Given the description of an element on the screen output the (x, y) to click on. 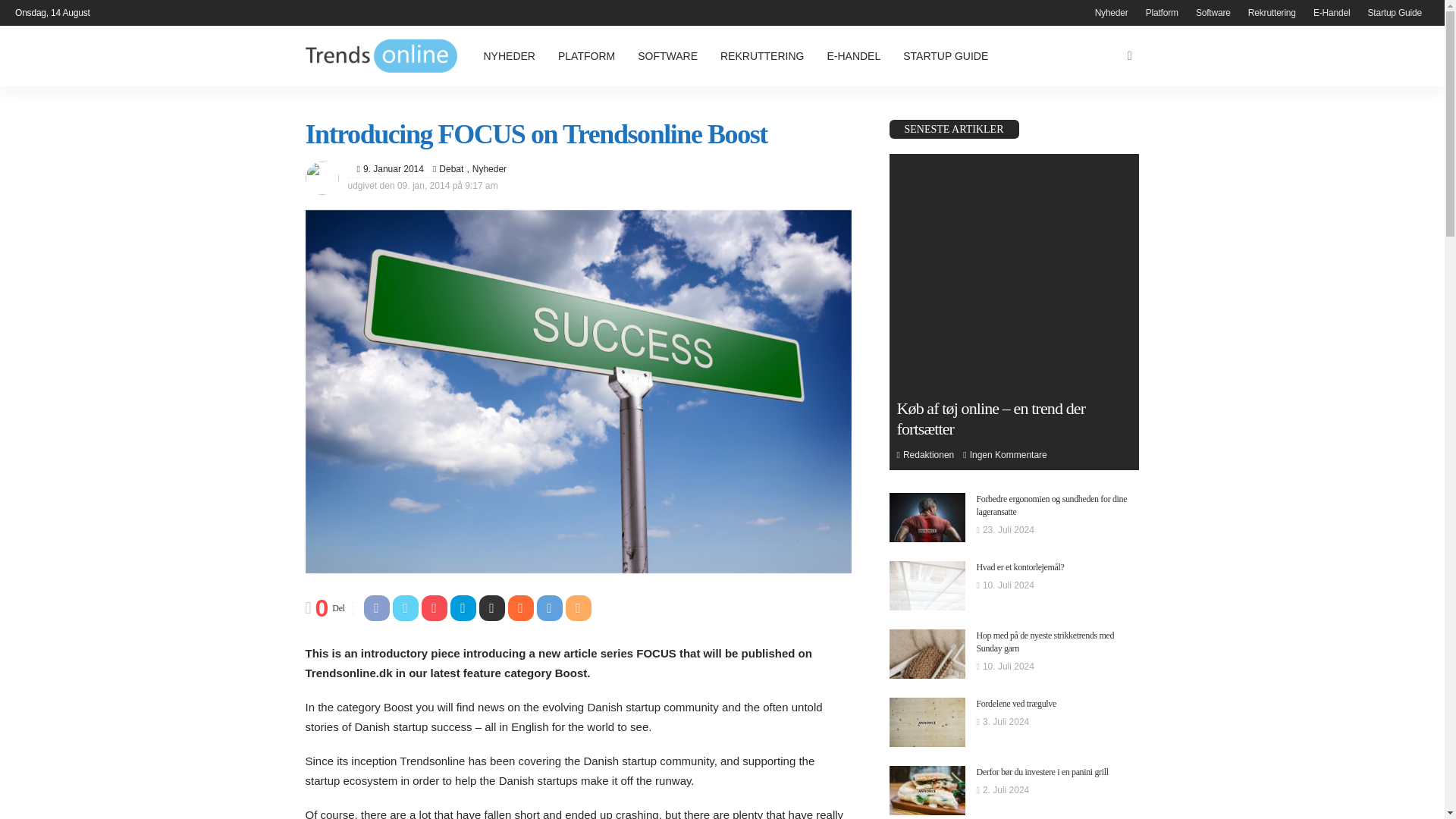
Debat (451, 168)
Trendsonline.dk (380, 55)
Nyheder (484, 168)
